Given the description of an element on the screen output the (x, y) to click on. 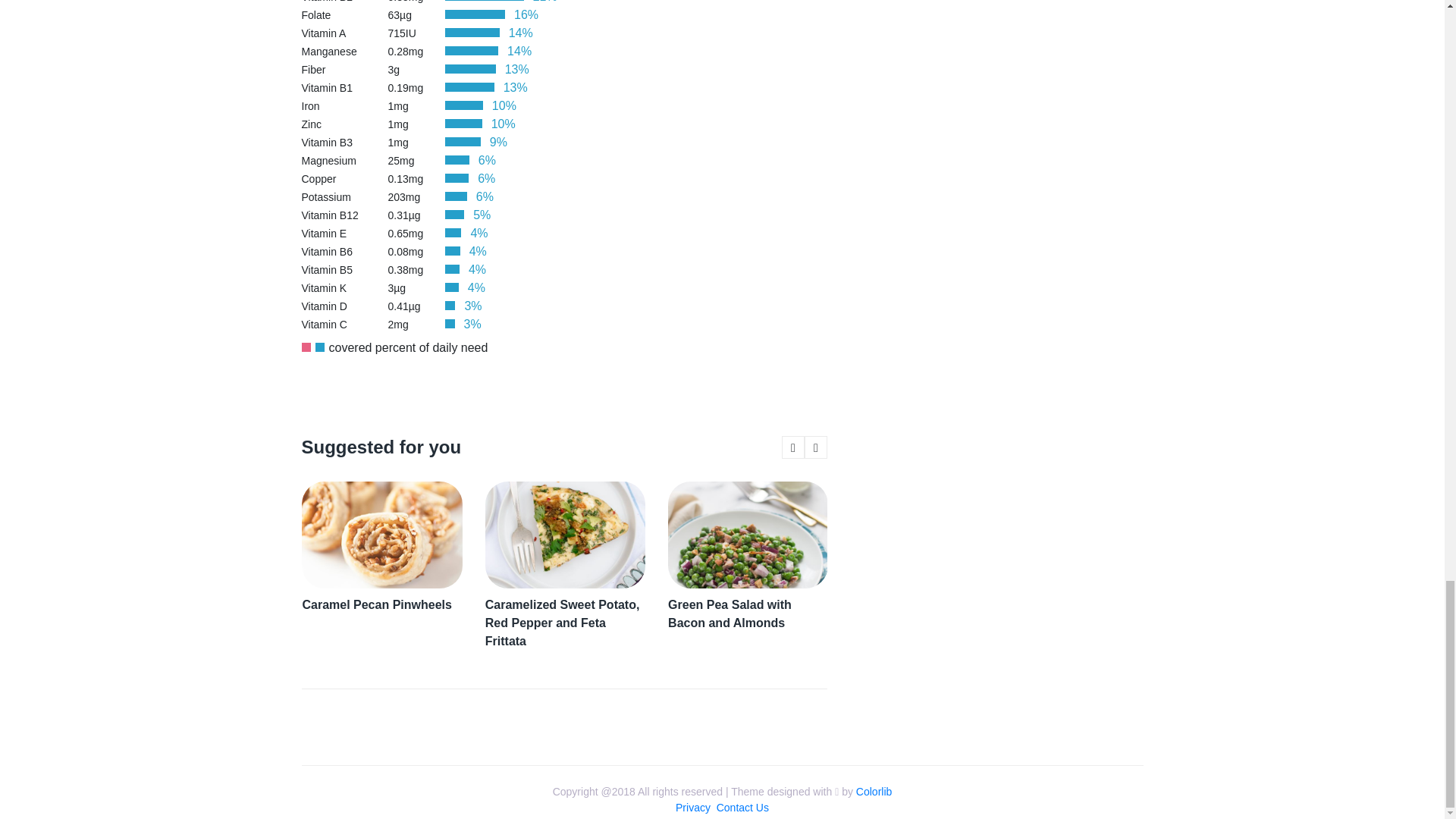
Caramelized Sweet Potato, Red Pepper and Feta Frittata (564, 623)
Caramel Pecan Pinwheels (381, 605)
